Given the description of an element on the screen output the (x, y) to click on. 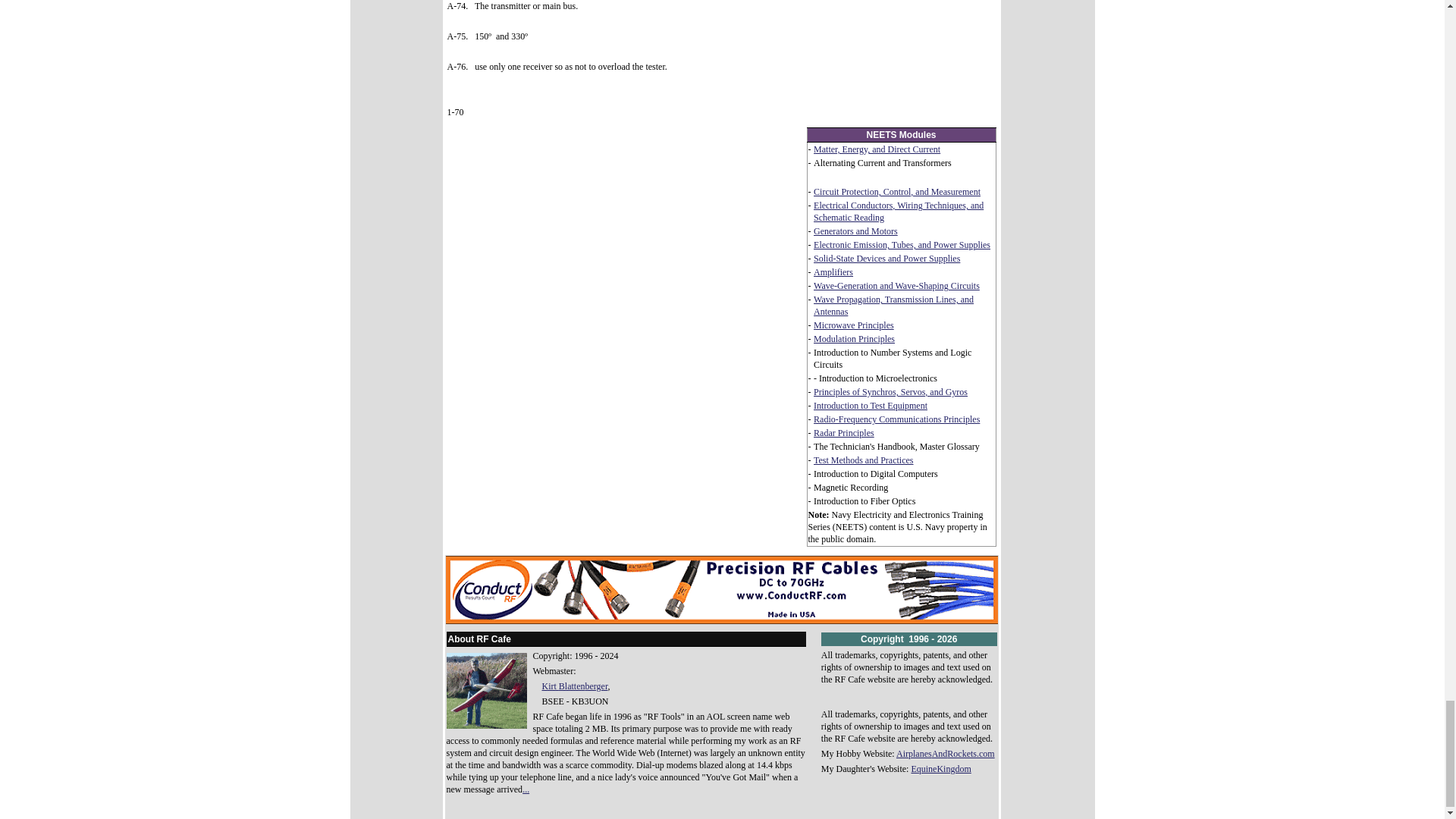
Solid-State Devices and Power Supplies (886, 258)
Electronic Emission, Tubes, and Power Supplies (901, 244)
Amplifiers (833, 271)
Wave Propagation, Transmission Lines, and Antennas (893, 305)
Wave-Generation and Wave-Shaping Circuits (896, 285)
Matter, Energy, and Direct Current (876, 149)
Generators and Motors (855, 231)
Microwave Principles (853, 325)
Circuit Protection, Control, and Measurement (896, 191)
